Given the description of an element on the screen output the (x, y) to click on. 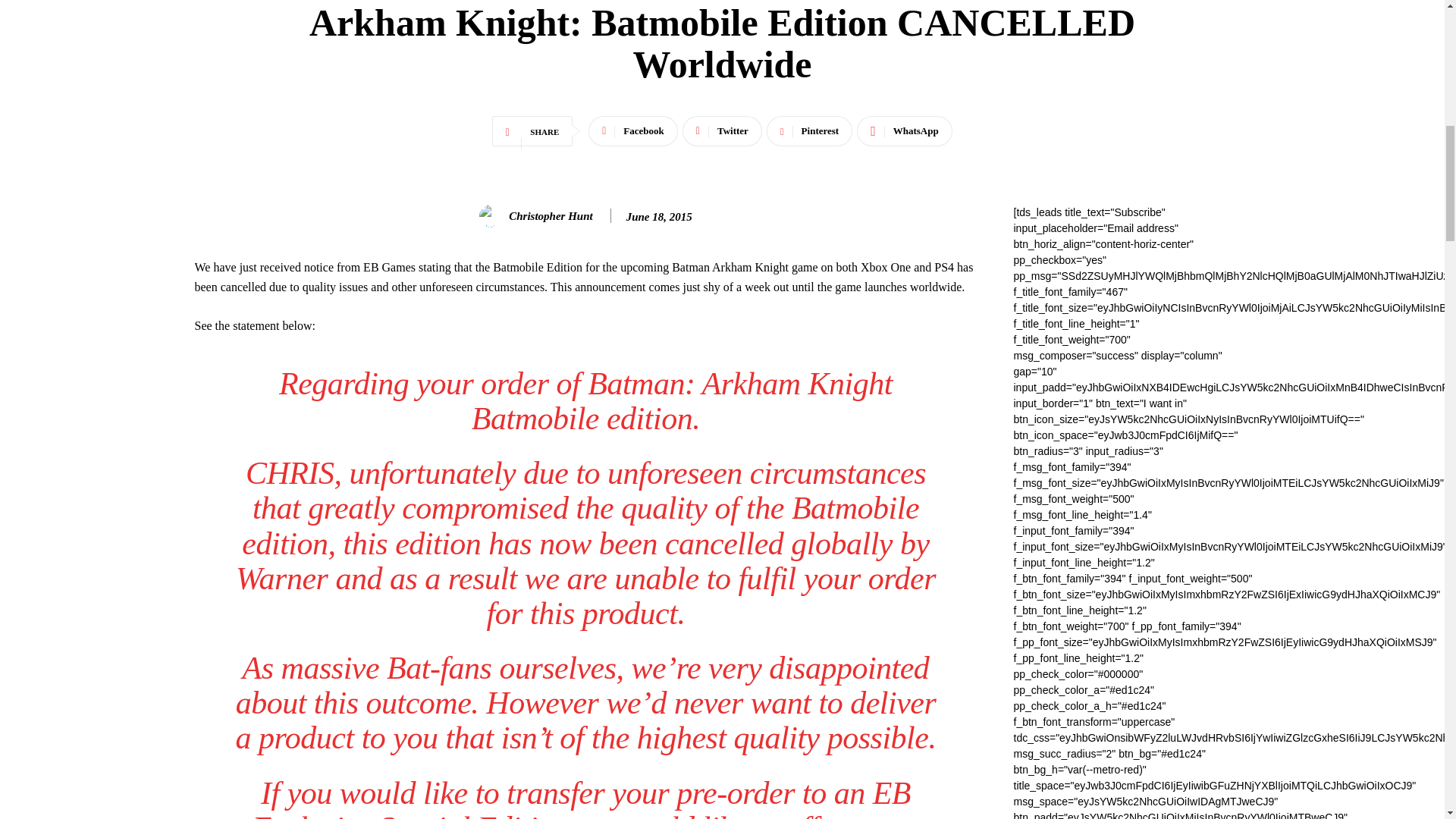
Twitter (721, 131)
Pinterest (809, 131)
Facebook (633, 131)
Twitter (721, 131)
WhatsApp (904, 131)
Facebook (633, 131)
Pinterest (809, 131)
WhatsApp (904, 131)
